Given the description of an element on the screen output the (x, y) to click on. 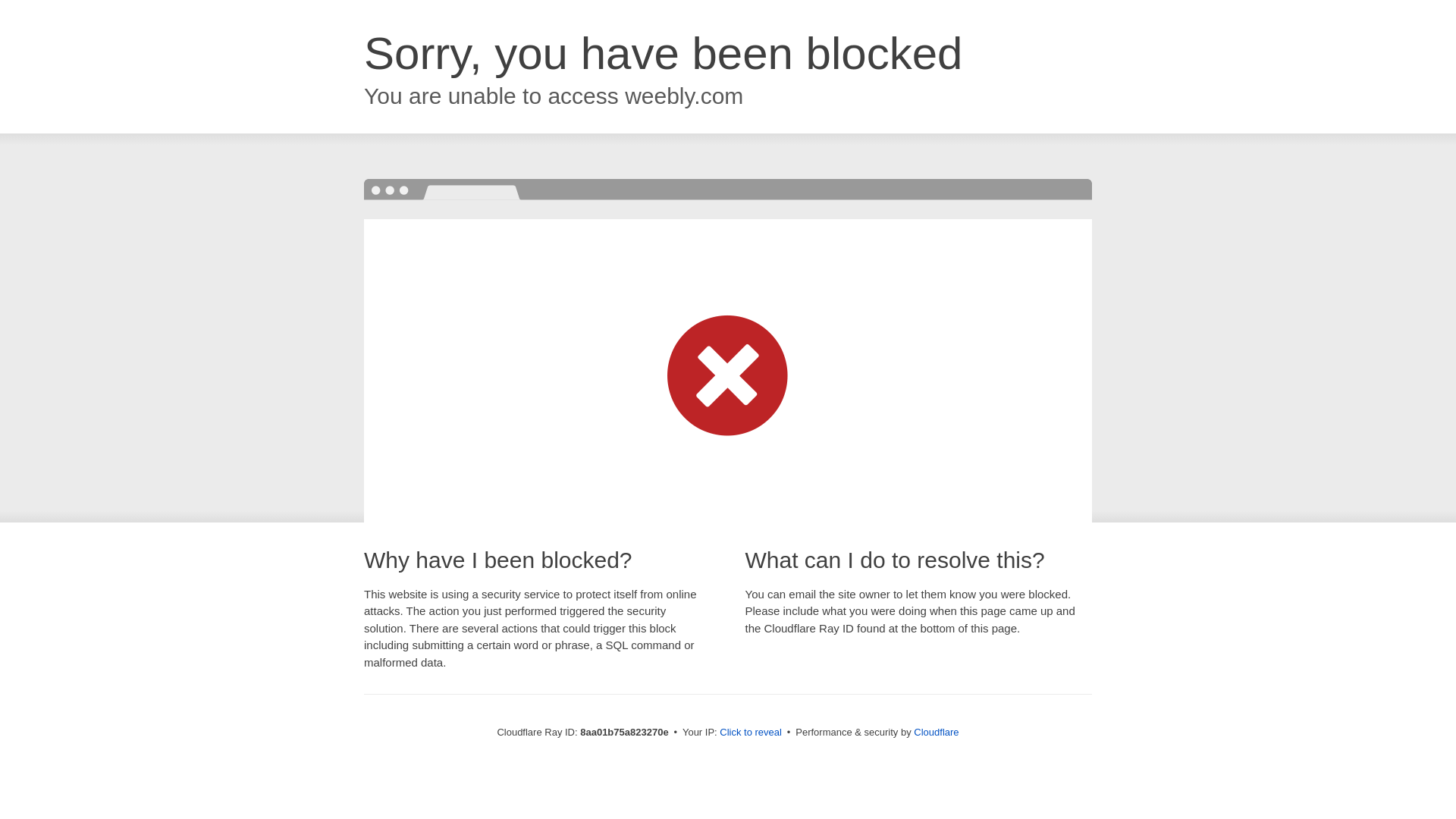
Cloudflare (936, 731)
Click to reveal (750, 732)
